Given the description of an element on the screen output the (x, y) to click on. 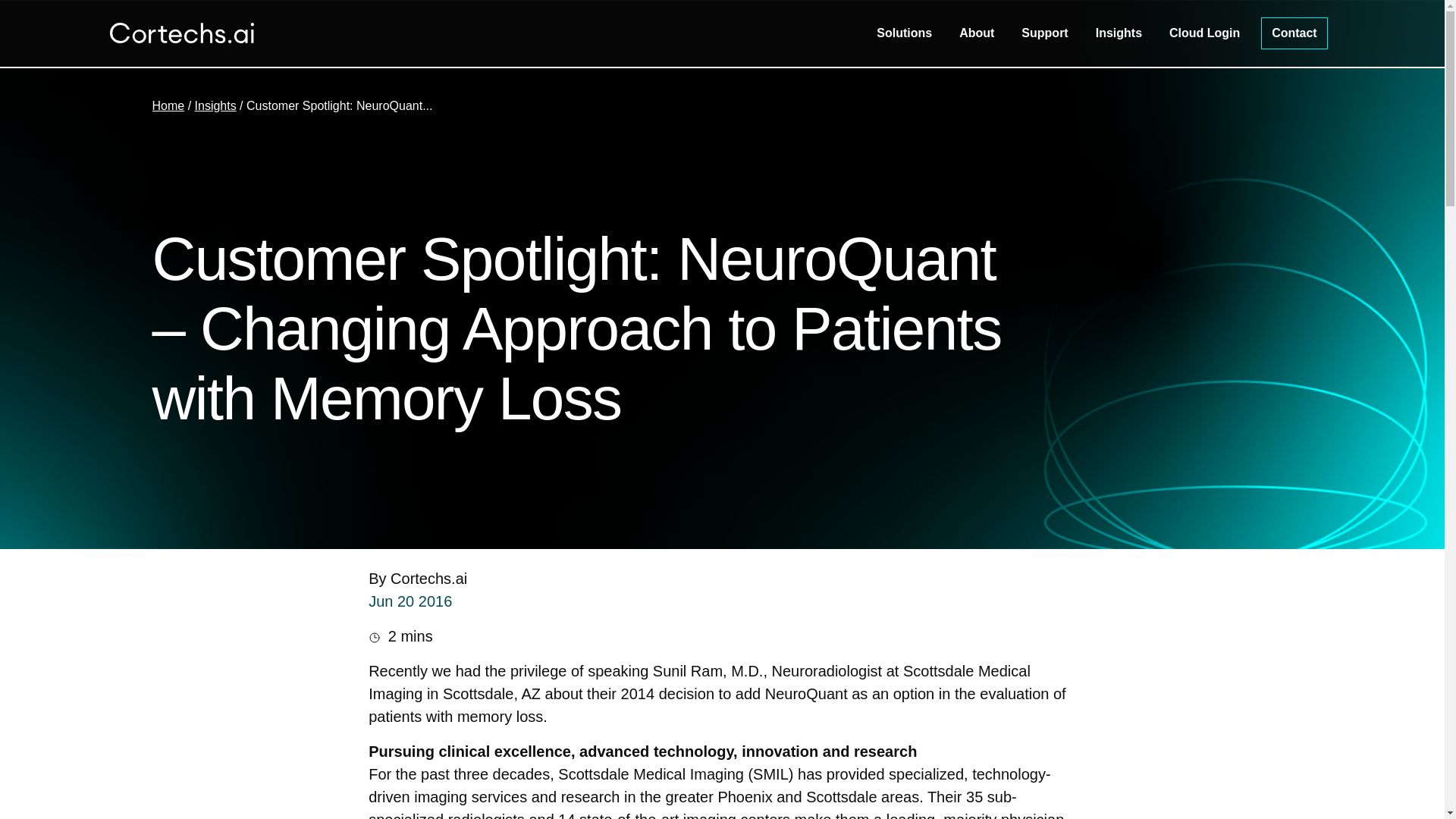
Solutions (903, 33)
